Given the description of an element on the screen output the (x, y) to click on. 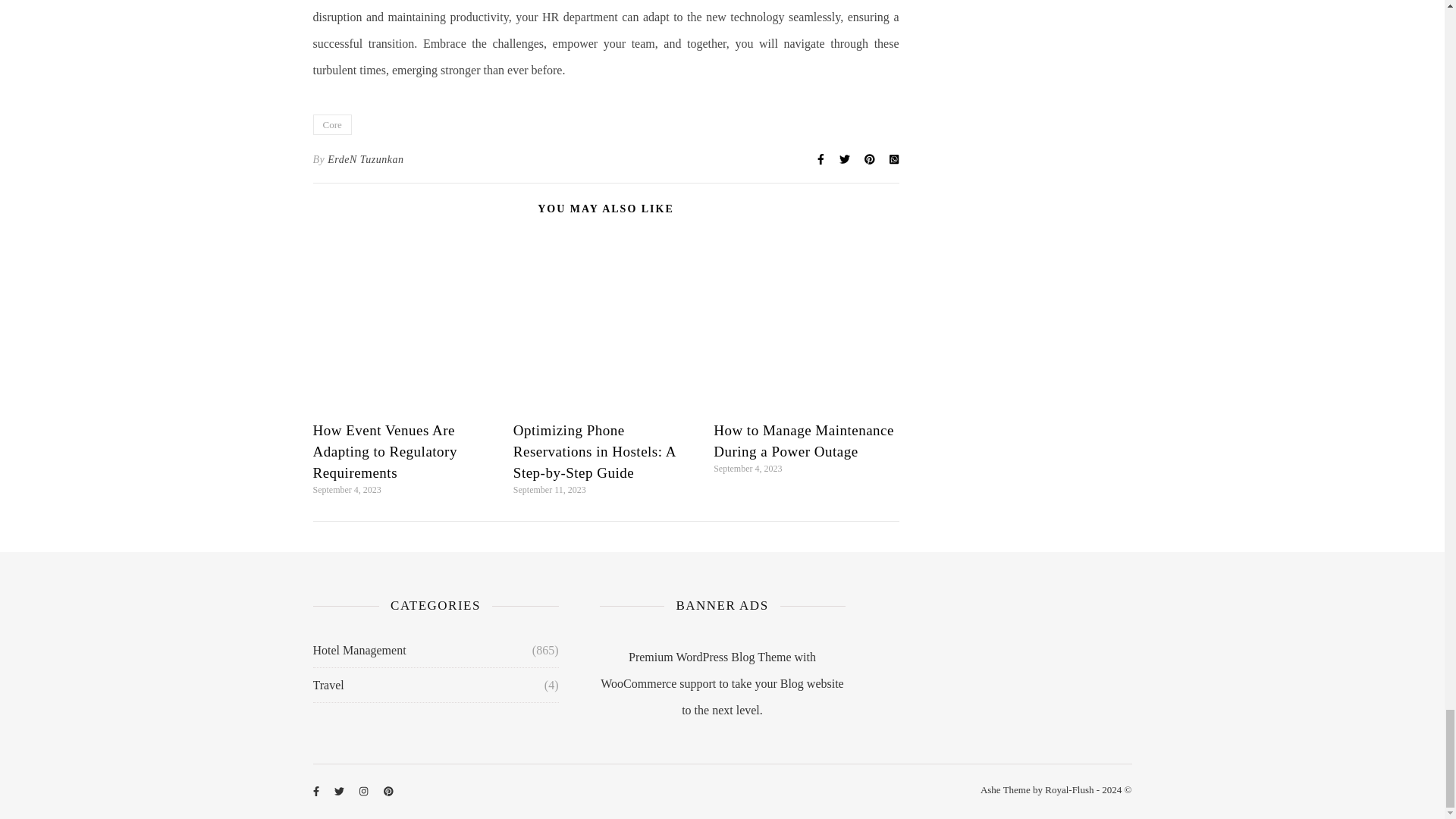
ErdeN Tuzunkan (365, 159)
Core (331, 124)
How Event Venues Are Adapting to Regulatory Requirements (385, 451)
